Given the description of an element on the screen output the (x, y) to click on. 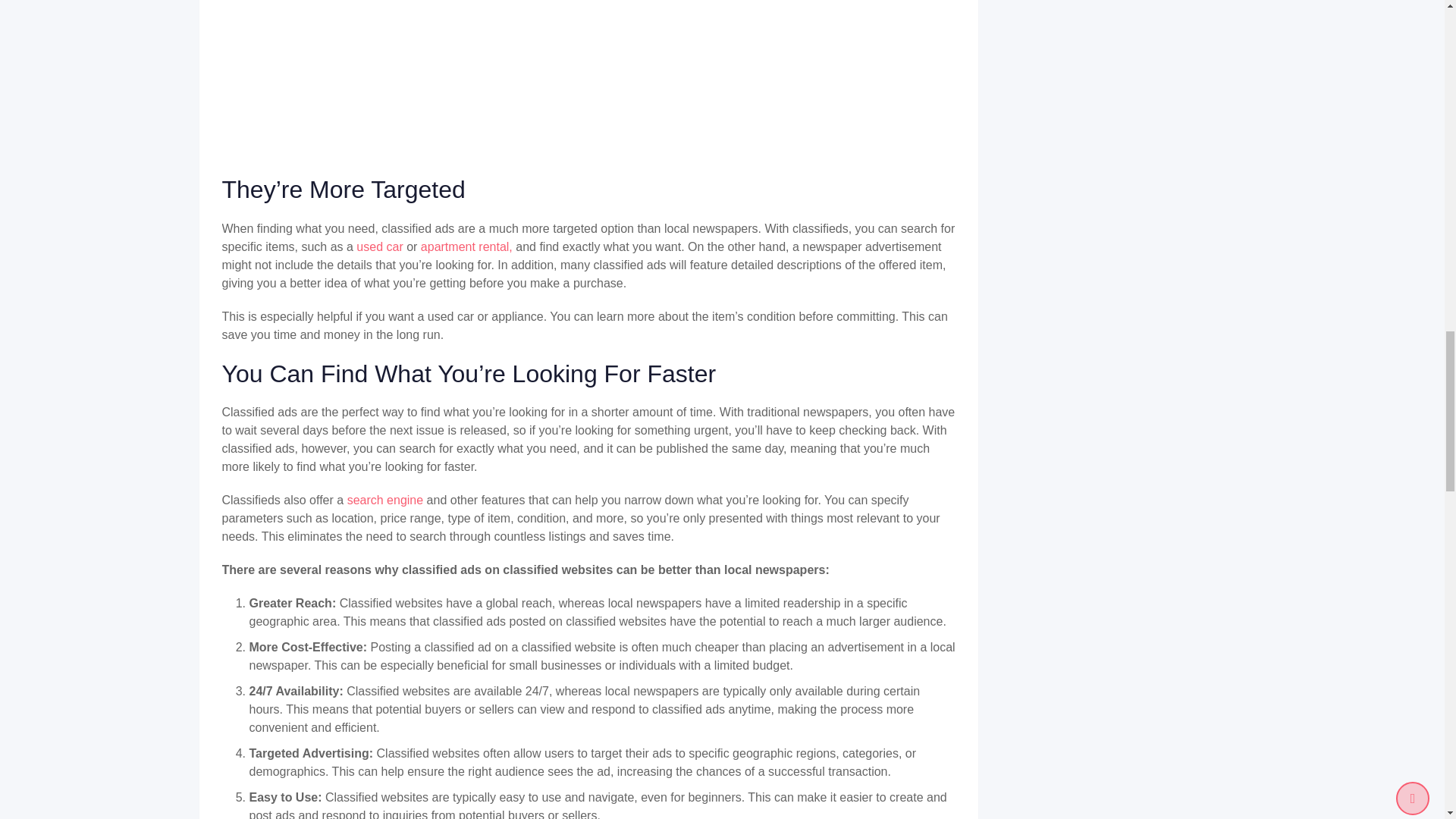
apartment rental, (466, 246)
used car (379, 246)
search engine (385, 499)
